Given the description of an element on the screen output the (x, y) to click on. 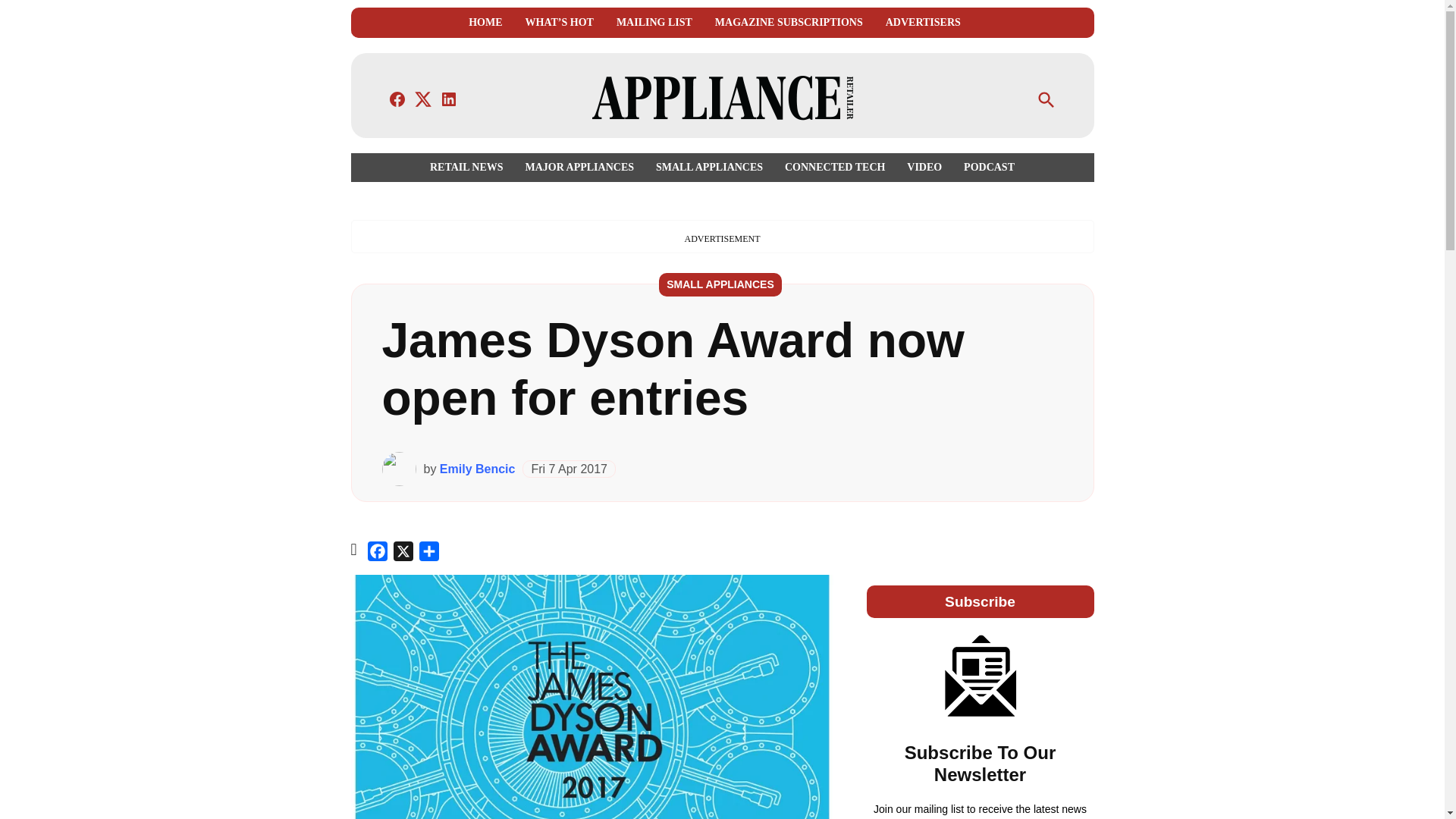
X (403, 554)
HOME (484, 22)
SMALL APPLIANCES (708, 167)
LINKEDIN (448, 99)
MAJOR APPLIANCES (579, 167)
RETAIL NEWS (470, 167)
VIDEO (924, 167)
Facebook (377, 554)
FACEBOOK (397, 99)
Facebook (377, 554)
